Given the description of an element on the screen output the (x, y) to click on. 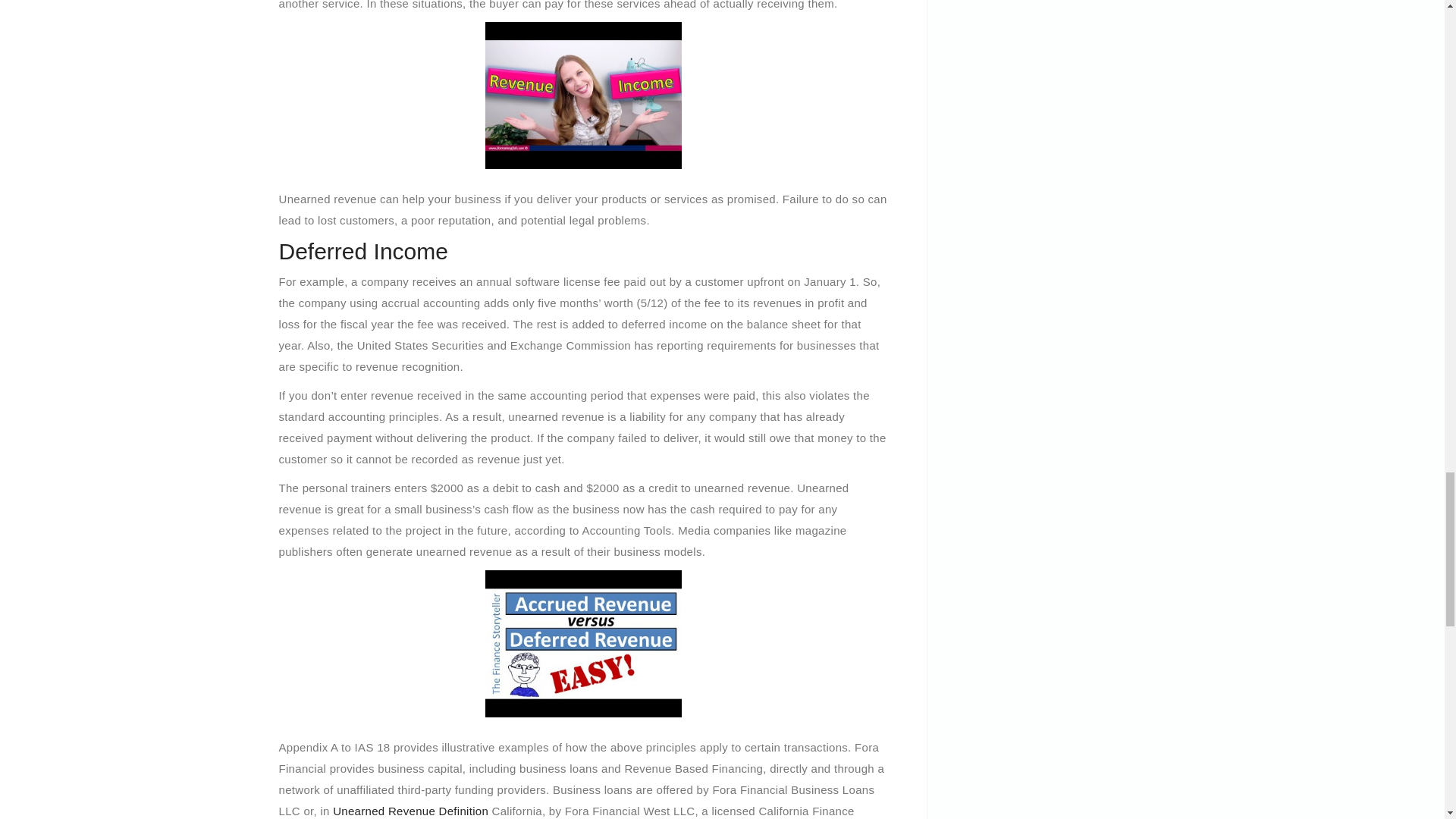
Unearned Revenue Definition (410, 810)
